Given the description of an element on the screen output the (x, y) to click on. 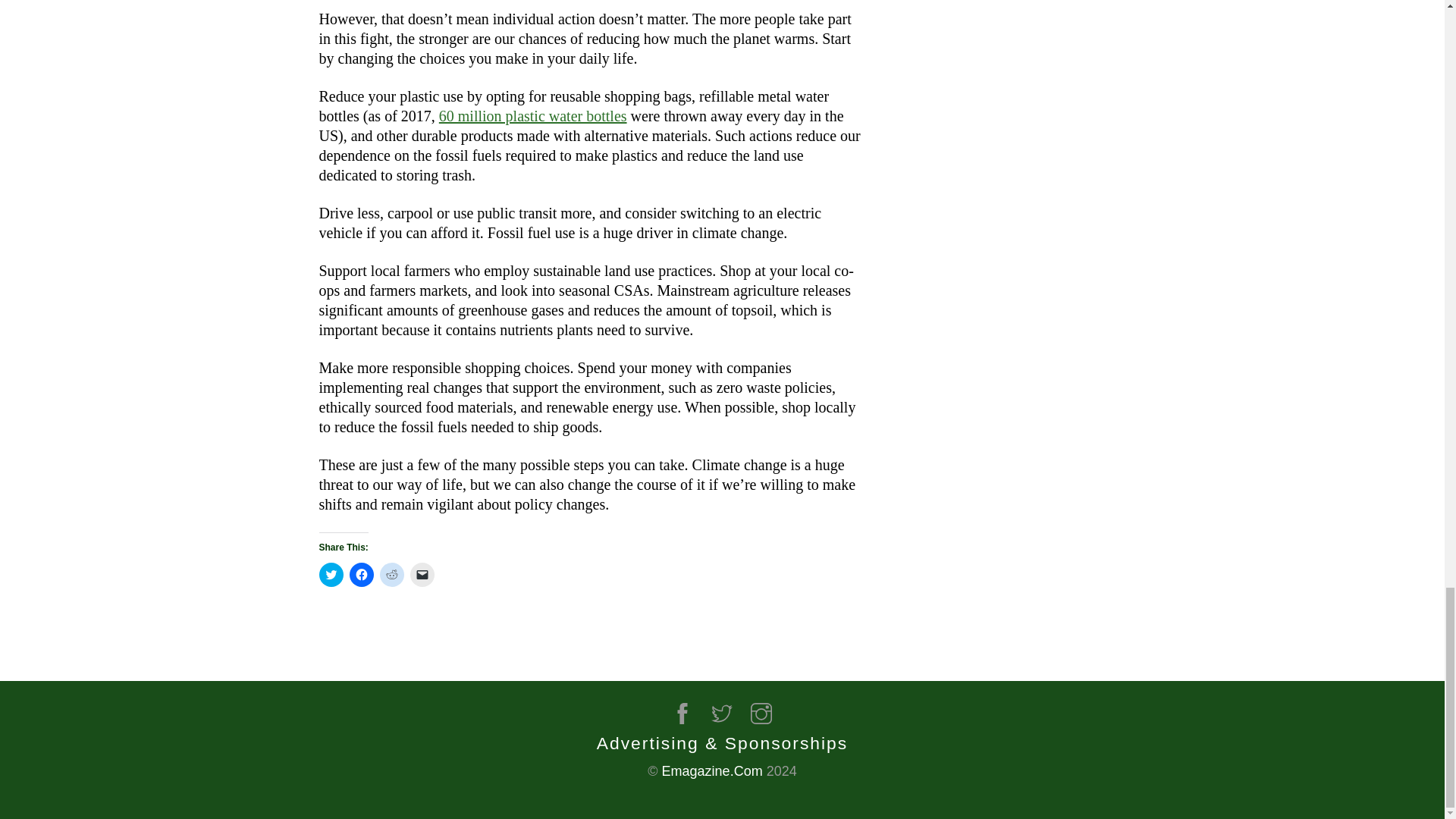
Click to share on Reddit (390, 574)
60 million plastic water bottles (533, 115)
Click to share on Twitter (330, 574)
Emagazine.Com (712, 770)
Click to email a link to a friend (421, 574)
Click to share on Facebook (360, 574)
